Given the description of an element on the screen output the (x, y) to click on. 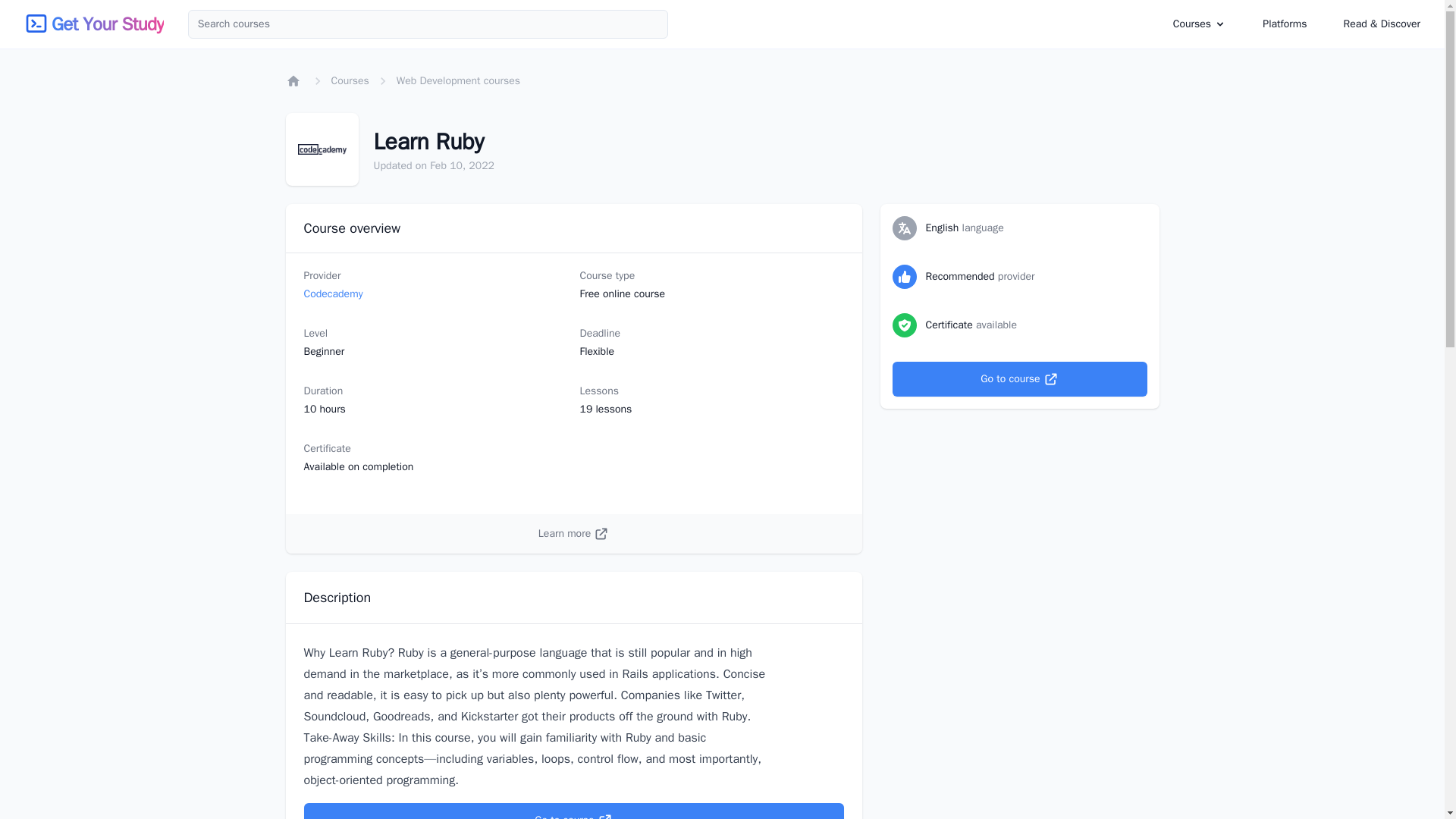
Courses (1199, 24)
Get Your Study (106, 24)
Courses (349, 80)
Go to course (572, 811)
Web Development courses (457, 80)
Codecademy (332, 293)
Courses (1192, 23)
Go to course (1019, 378)
Platforms (1284, 24)
Learn more (573, 533)
